Given the description of an element on the screen output the (x, y) to click on. 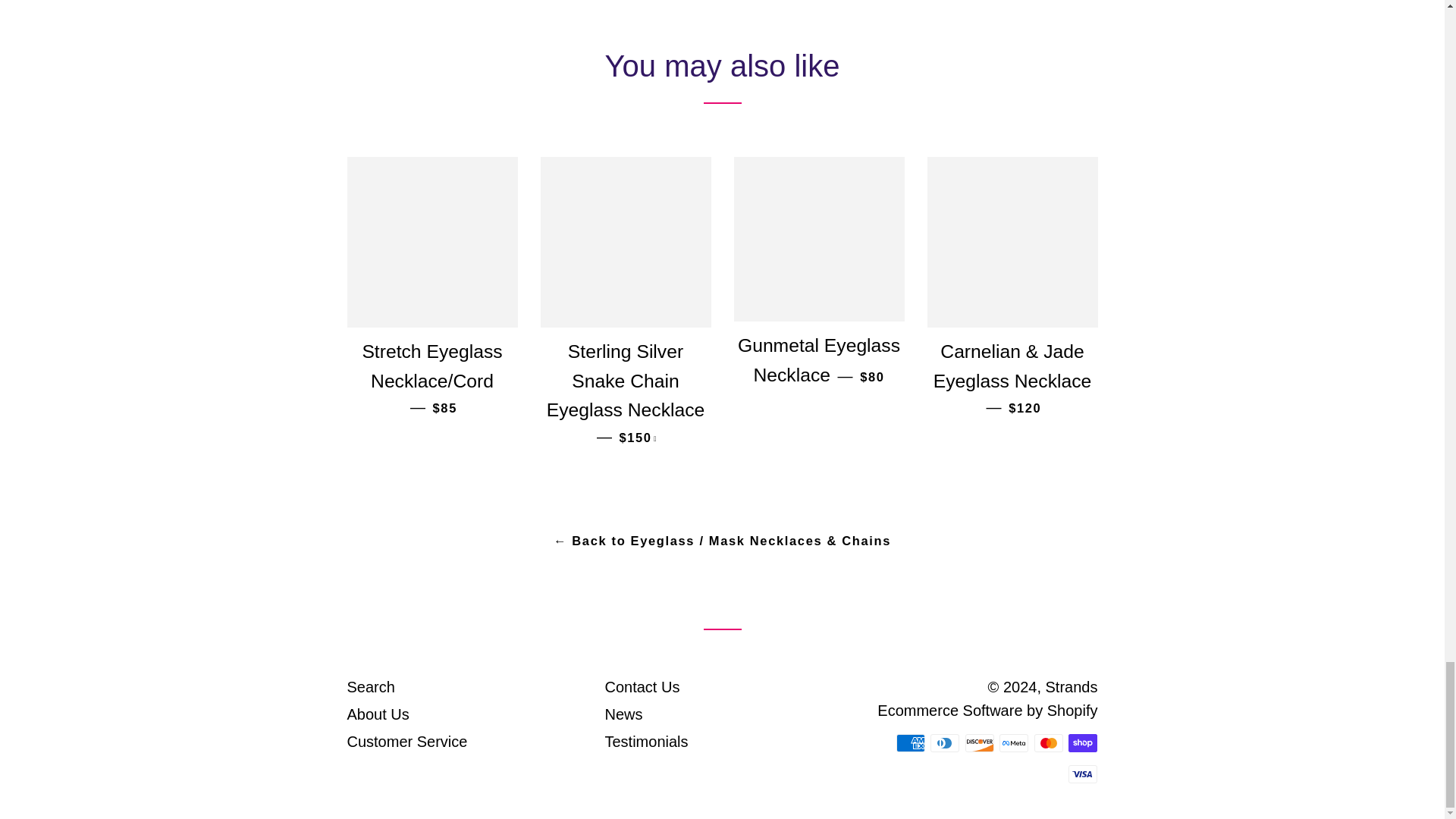
American Express (910, 742)
Mastercard (1047, 742)
Diners Club (944, 742)
Discover (979, 742)
Meta Pay (1012, 742)
Visa (1082, 773)
Shop Pay (1082, 742)
